Given the description of an element on the screen output the (x, y) to click on. 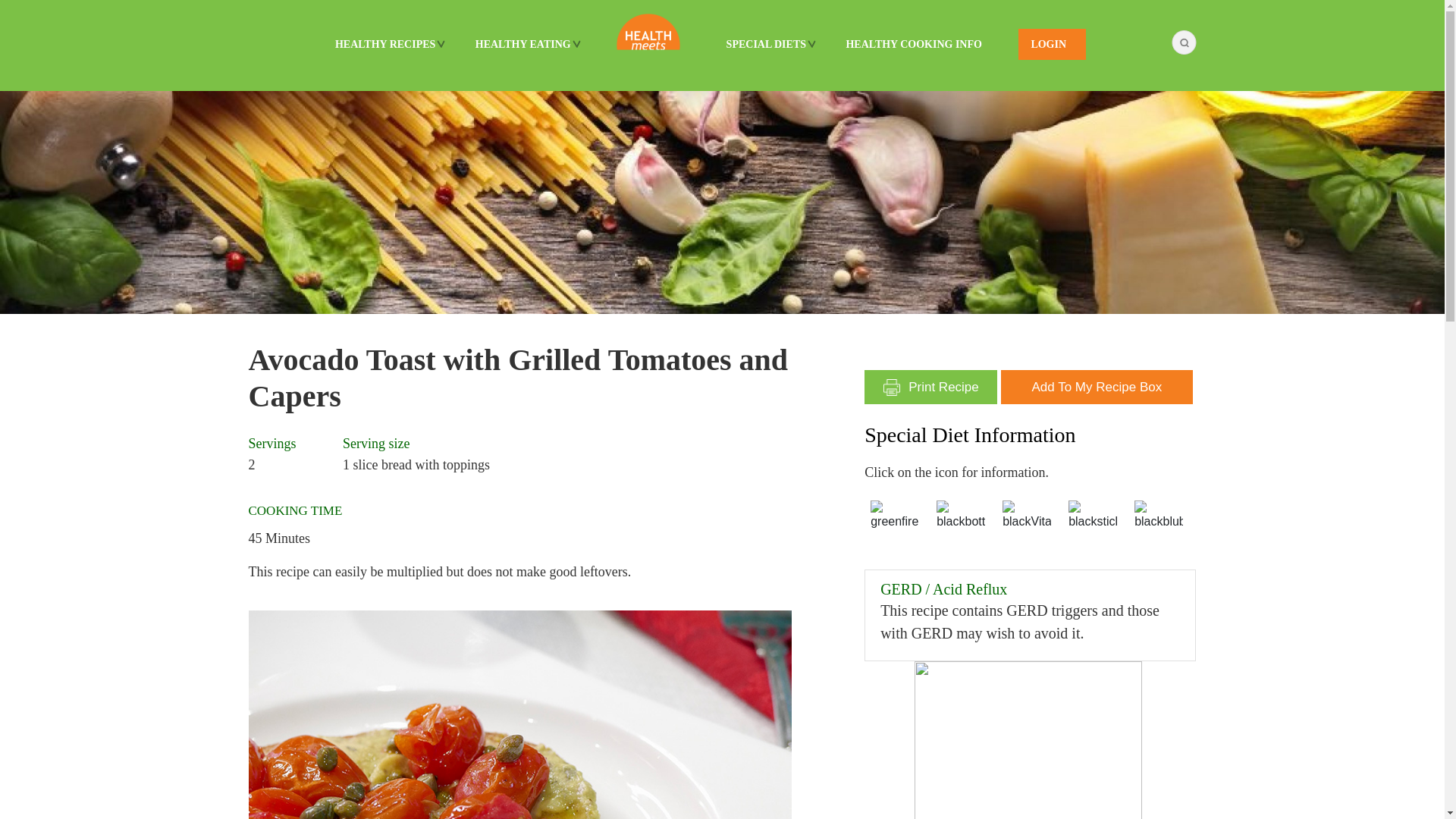
SPECIAL DIETS (766, 43)
HEALTHY RECIPES (384, 43)
HEALTHY COOKING INFO (913, 43)
HEALTHY EATING (522, 43)
